Given the description of an element on the screen output the (x, y) to click on. 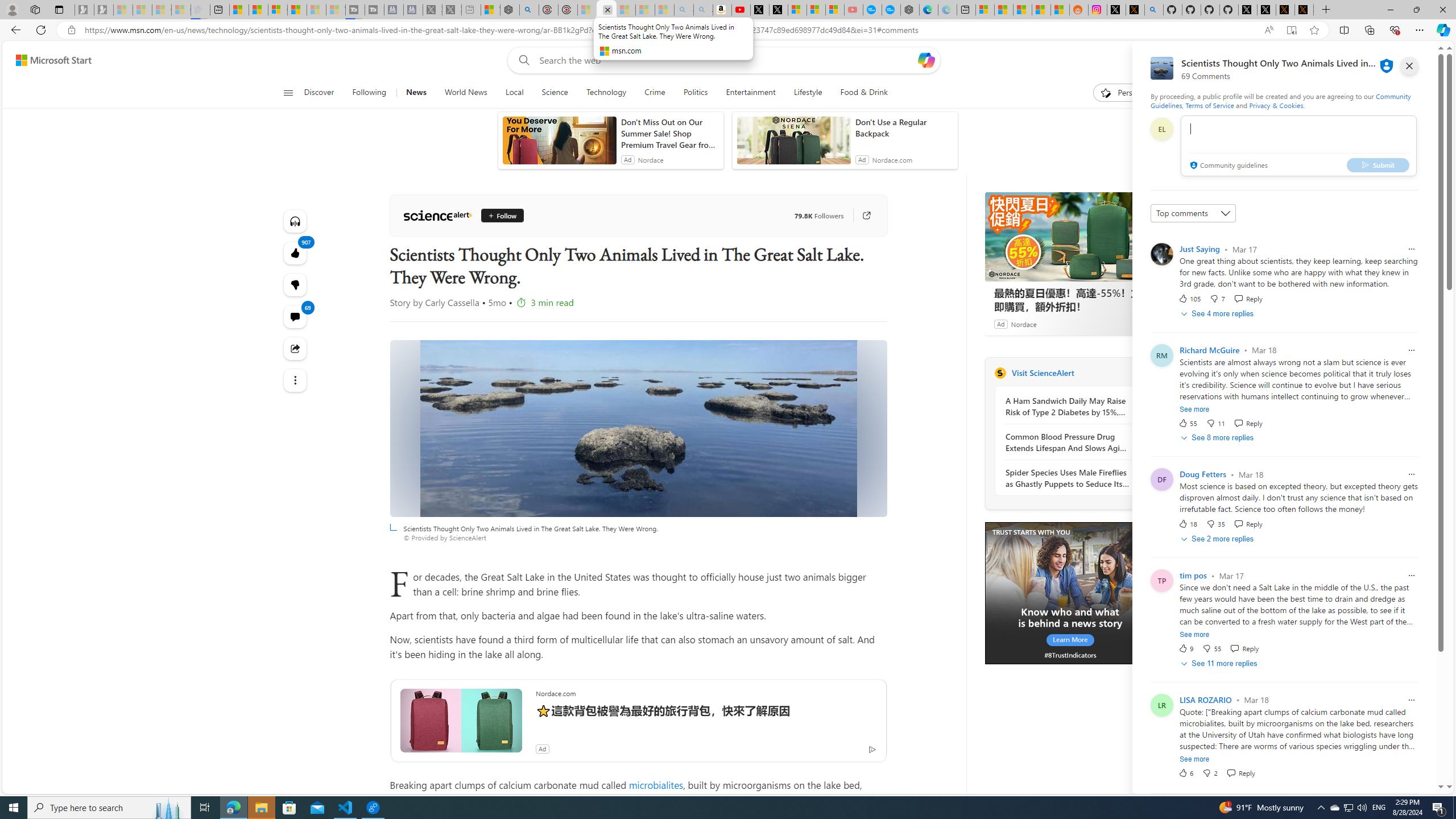
More like this907Fewer like thisView comments (295, 284)
Open settings (1420, 60)
Share this story (295, 348)
Sort comments by (1193, 212)
comment-box (1298, 145)
X Privacy Policy (1303, 9)
GitHub (@github) / X (1266, 9)
